Given the description of an element on the screen output the (x, y) to click on. 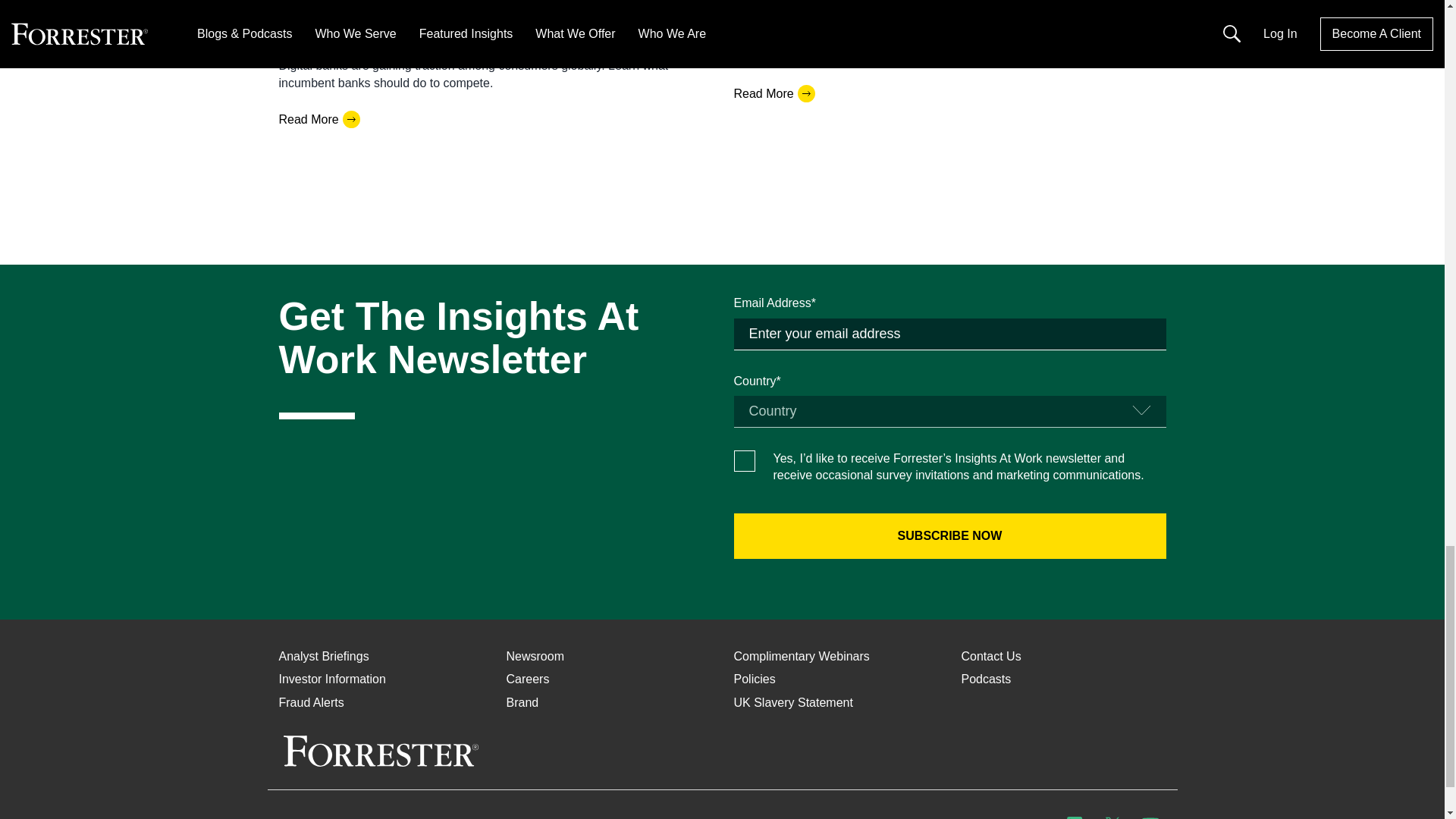
Aurelie L'Hostis (320, 6)
Subscribe Now (949, 535)
